Given the description of an element on the screen output the (x, y) to click on. 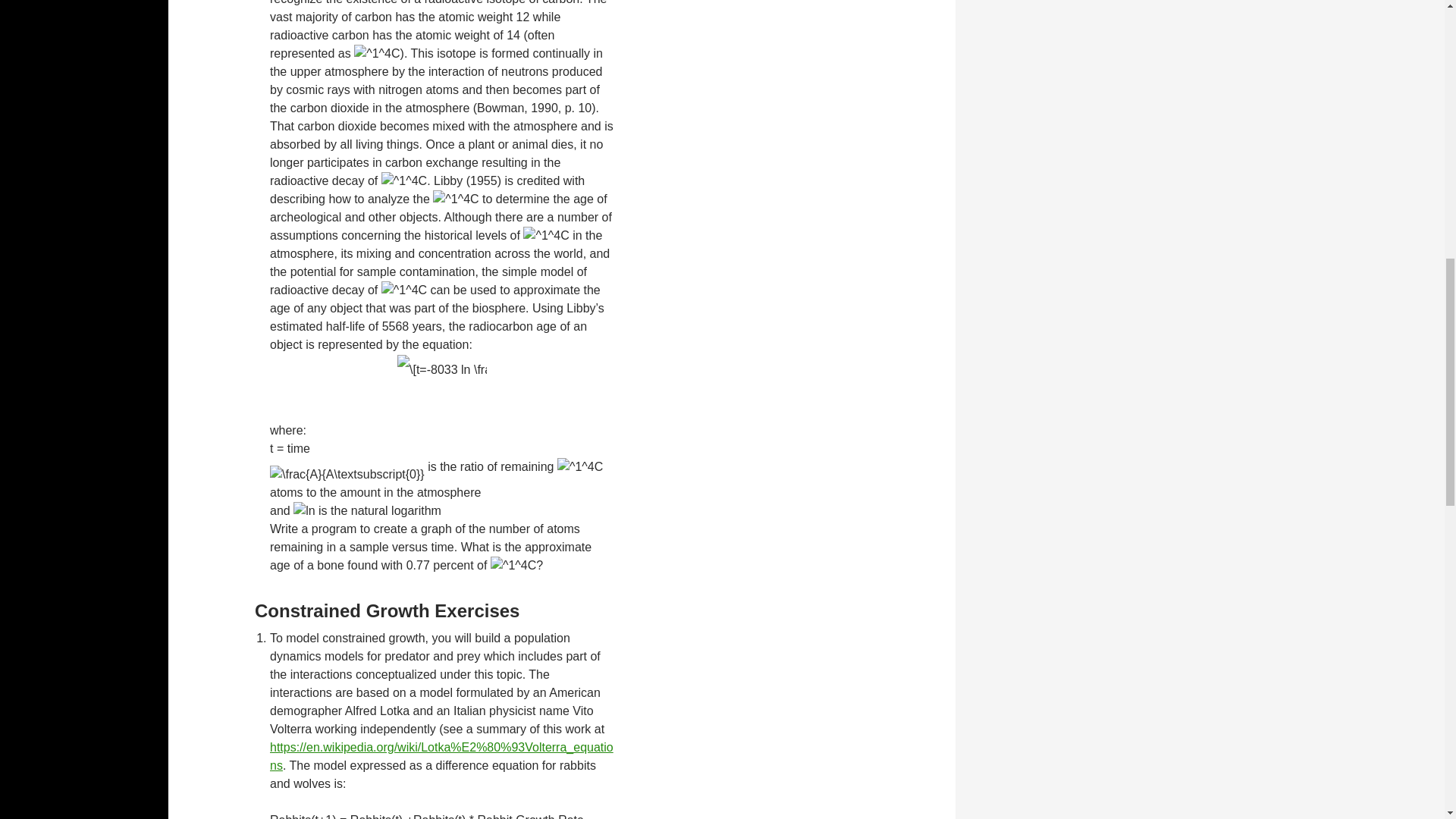
Rendered by QuickLaTeX.com (375, 54)
Rendered by QuickLaTeX.com (512, 565)
Rendered by QuickLaTeX.com (347, 475)
Rendered by QuickLaTeX.com (579, 466)
Rendered by QuickLaTeX.com (441, 369)
Rendered by QuickLaTeX.com (403, 290)
Rendered by QuickLaTeX.com (304, 511)
Rendered by QuickLaTeX.com (545, 235)
Rendered by QuickLaTeX.com (455, 199)
Rendered by QuickLaTeX.com (403, 180)
